Given the description of an element on the screen output the (x, y) to click on. 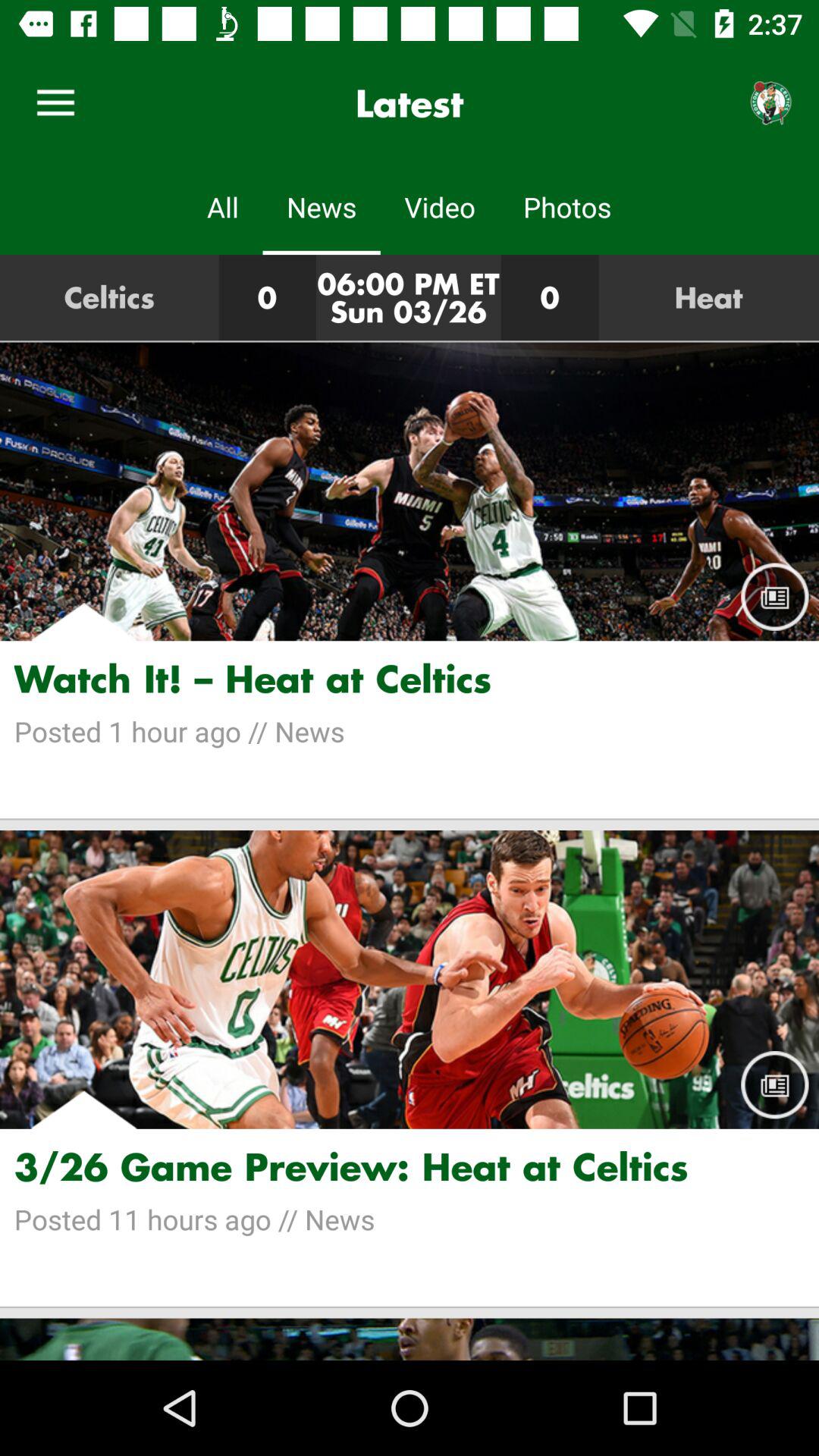
launch item above the heat icon (771, 103)
